Given the description of an element on the screen output the (x, y) to click on. 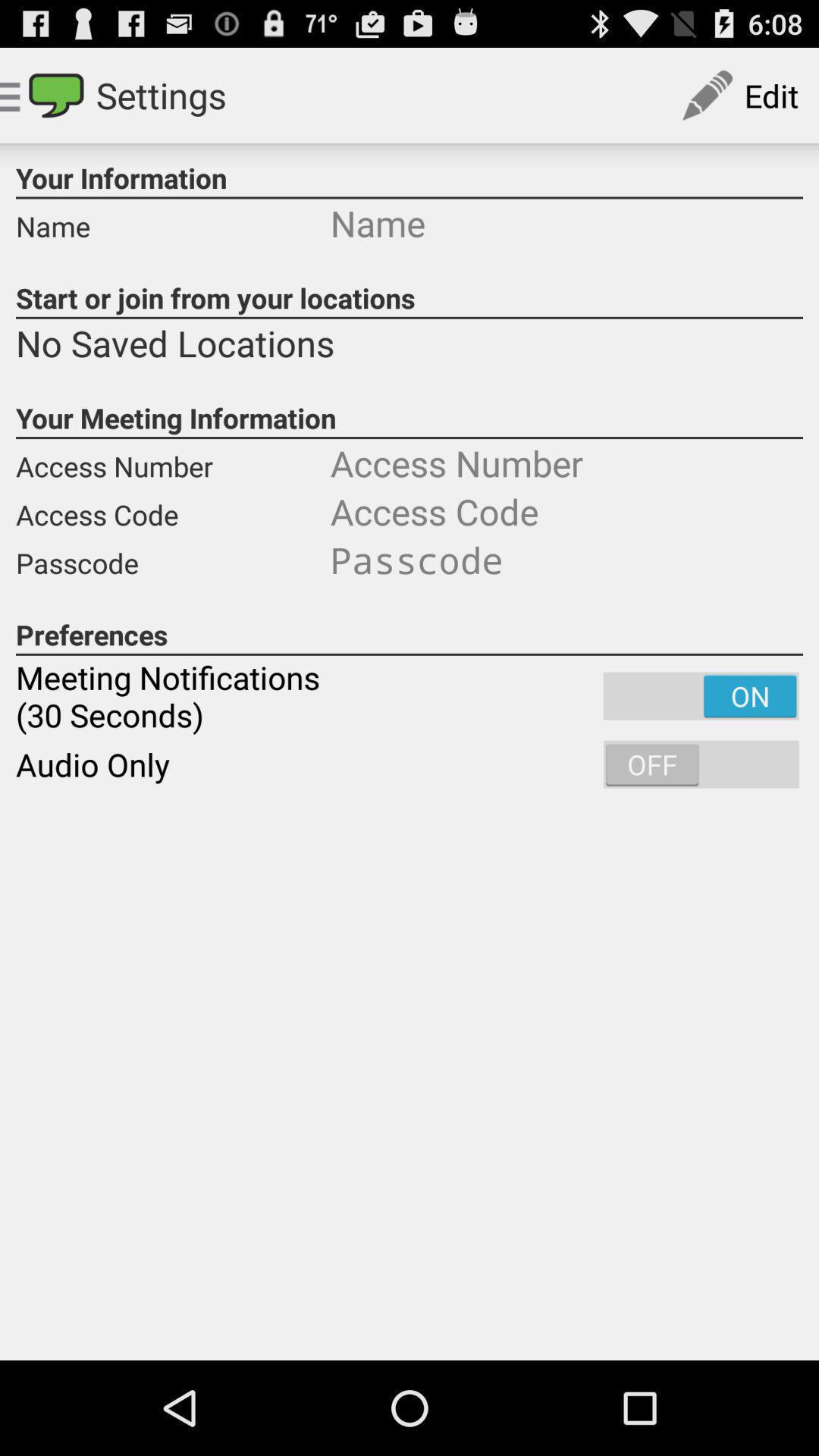
type your passcode in (566, 559)
